Given the description of an element on the screen output the (x, y) to click on. 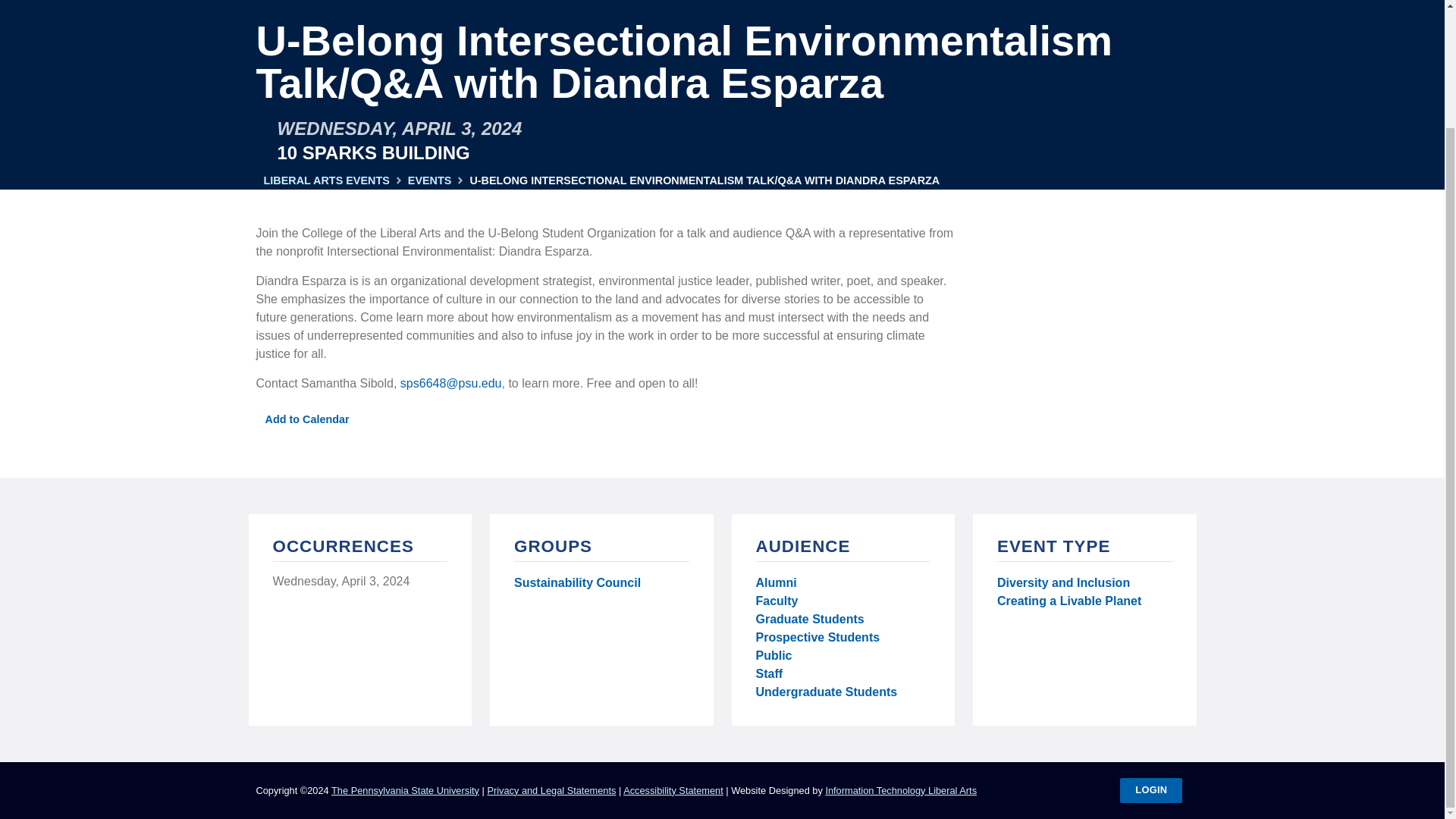
Add to Calendar (303, 419)
LOGIN (1150, 790)
Accessibility Statement (673, 790)
Information Technology Liberal Arts (900, 790)
Public (773, 656)
LIBERAL ARTS EVENTS (326, 180)
Sustainability Council (576, 585)
Liberal Arts Events (326, 180)
EVENTS (429, 180)
Privacy and Legal Statements (550, 790)
